Given the description of an element on the screen output the (x, y) to click on. 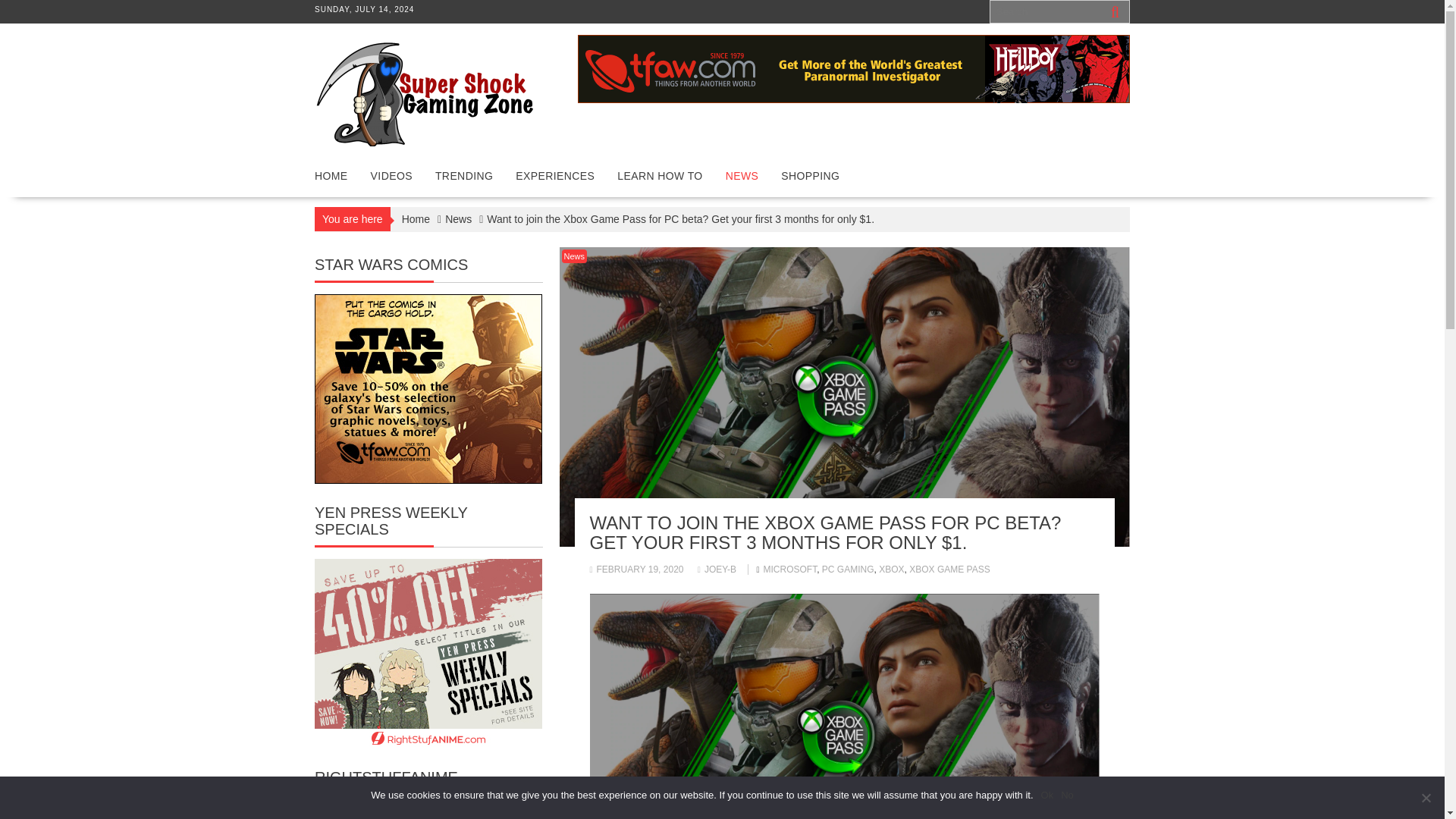
HOME (330, 176)
Home (415, 218)
News (573, 255)
News (458, 218)
JOEY-B (716, 569)
FEBRUARY 19, 2020 (636, 569)
SHOPPING (810, 176)
VIDEOS (391, 176)
TRENDING (463, 176)
LEARN HOW TO (659, 176)
PC GAMING (848, 569)
NEWS (742, 176)
No (1425, 797)
XBOX GAME PASS (949, 569)
MICROSOFT (789, 569)
